Given the description of an element on the screen output the (x, y) to click on. 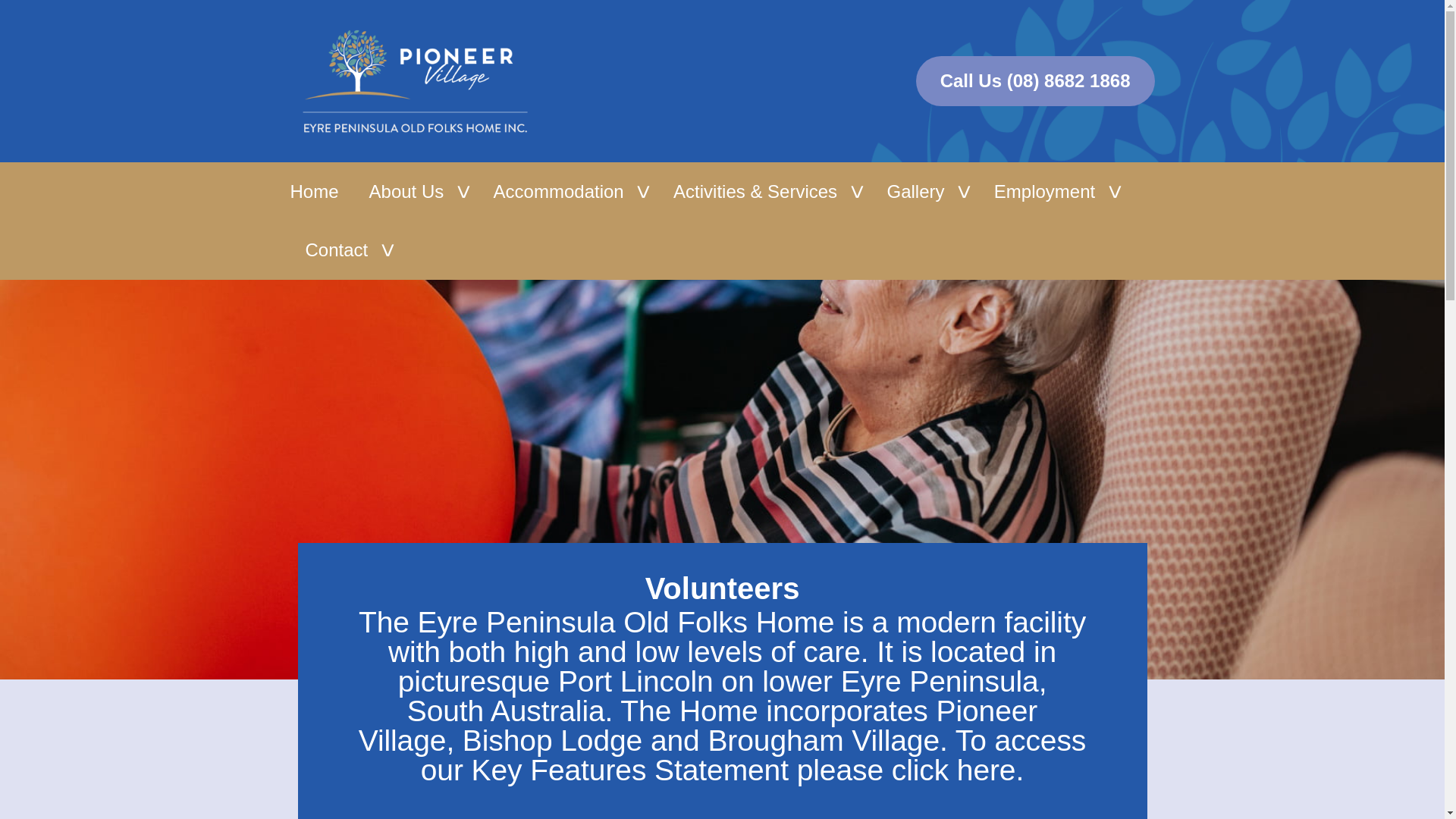
Accommodation (568, 191)
Accommodation (568, 191)
Employment (1054, 191)
Gallery (924, 191)
About Us (416, 191)
Gallery (924, 191)
About Us (416, 191)
Contact (345, 250)
click here. (957, 769)
